Given the description of an element on the screen output the (x, y) to click on. 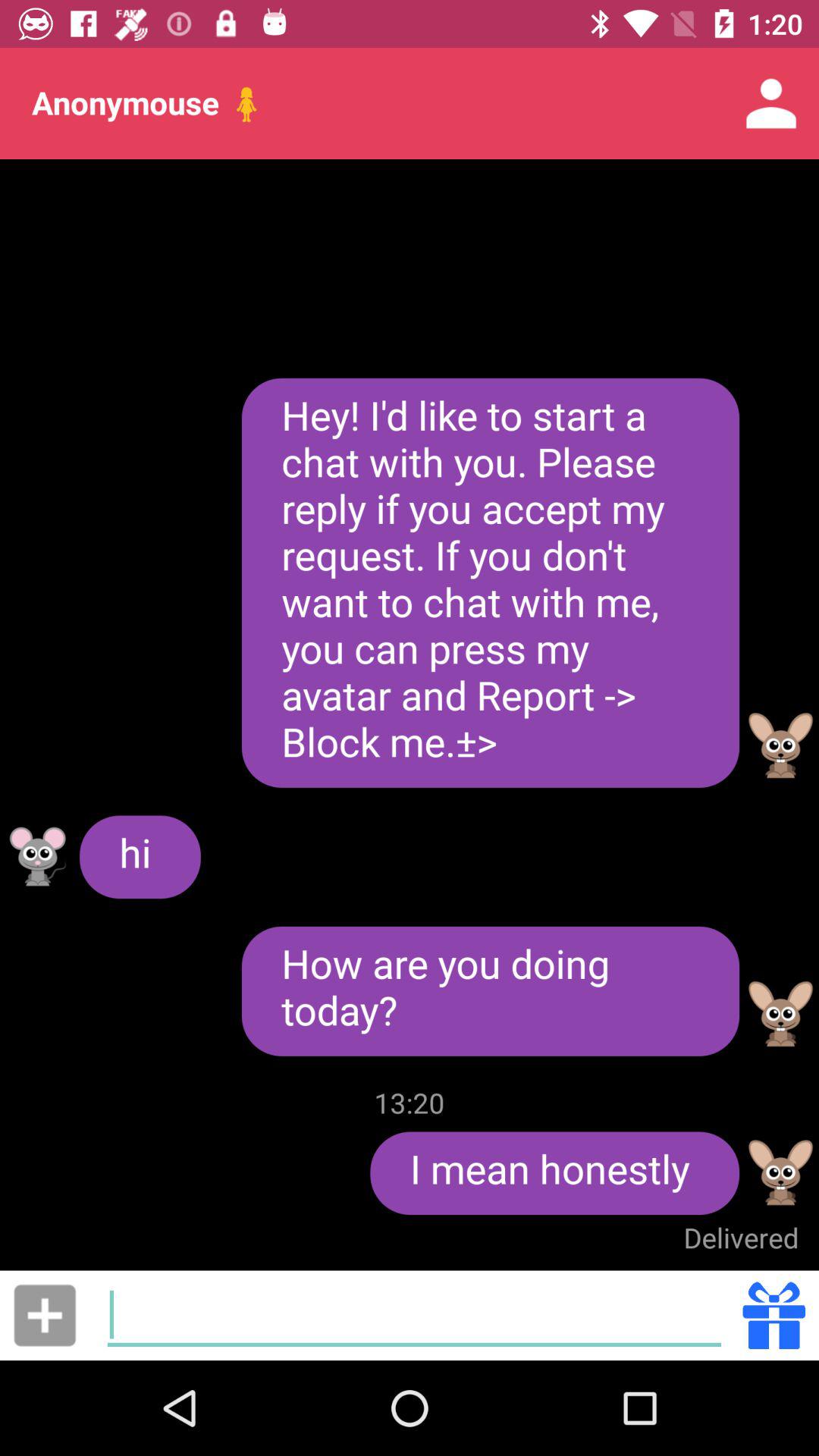
press item below the hi (44, 1315)
